Given the description of an element on the screen output the (x, y) to click on. 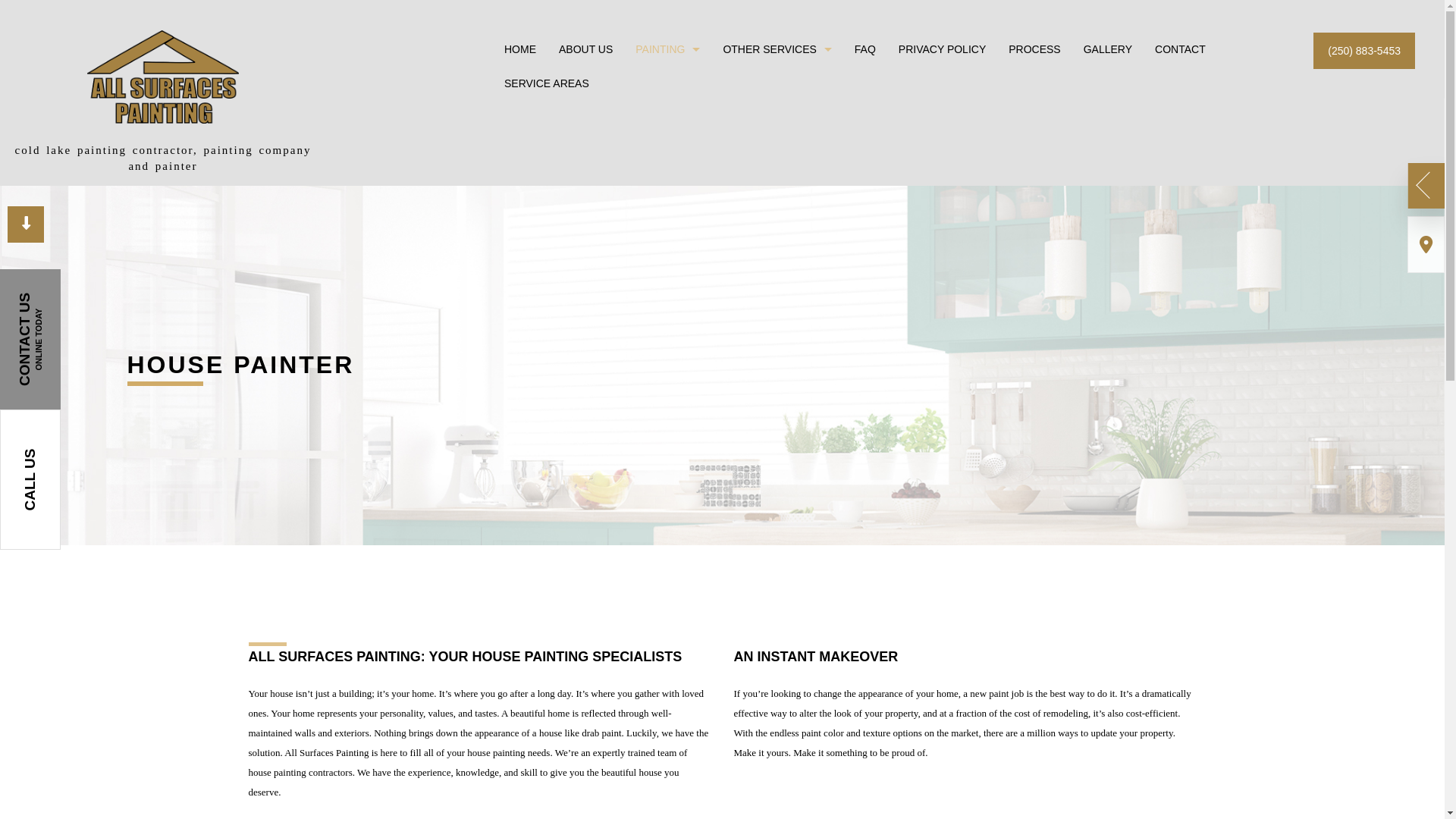
EXTERIOR PAINTER Element type: text (682, 129)
GALLERY Element type: text (1107, 49)
PAINTING ESTIMATES Element type: text (769, 155)
EXTERIOR BRICK PAINTING Element type: text (915, 102)
SPRAY-APPLIED EXTERIOR PAINTING Element type: text (682, 208)
PRIVACY POLICY Element type: text (942, 49)
OTHER SERVICES Element type: text (776, 49)
HOUSE PAINTER Element type: text (915, 129)
KITCHEN CABINET PAINTING Element type: text (1002, 129)
(250) 883-5453 Element type: text (1364, 50)
POWER WASHING Element type: text (1002, 155)
PRESSURE WASHING Element type: text (769, 182)
RESIDENTIAL PAINTER Element type: text (915, 182)
CHOOSING PAINT COLORS Element type: text (769, 102)
CALL US Element type: text (70, 439)
EPOXY FLOOR COATING Element type: text (769, 129)
HOME Element type: text (519, 49)
All Surfaces Painting's Google Element type: hover (1425, 244)
CONTACT US
ONLINE TODAY Element type: text (70, 299)
ABOUT US Element type: text (585, 49)
SMALL DRYWALL REPAIR Element type: text (1002, 102)
INDUSTRIAL PAINTING CONTRACTOR Element type: text (682, 155)
PAINTING Element type: text (667, 49)
SERVICE AREAS Element type: text (546, 83)
INTERIOR PAINTER Element type: text (915, 155)
FAQ Element type: text (865, 49)
CONTACT Element type: text (1180, 49)
PROCESS Element type: text (1034, 49)
COMMERCIAL PAINTER Element type: text (682, 102)
PAINTING CONTRACTOR Element type: text (682, 182)
